Given the description of an element on the screen output the (x, y) to click on. 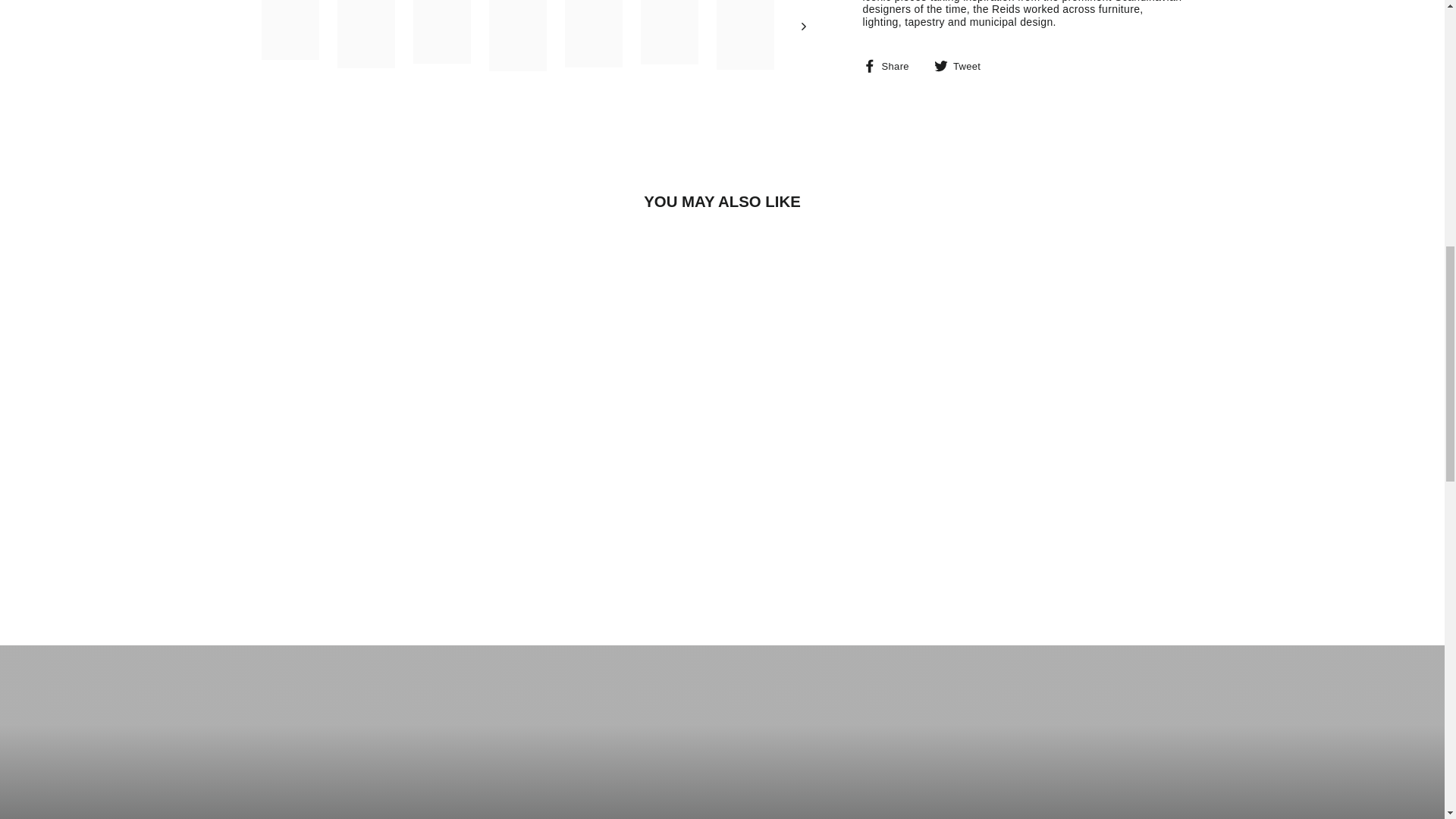
Share on Facebook (891, 65)
Tweet on Twitter (962, 65)
